Given the description of an element on the screen output the (x, y) to click on. 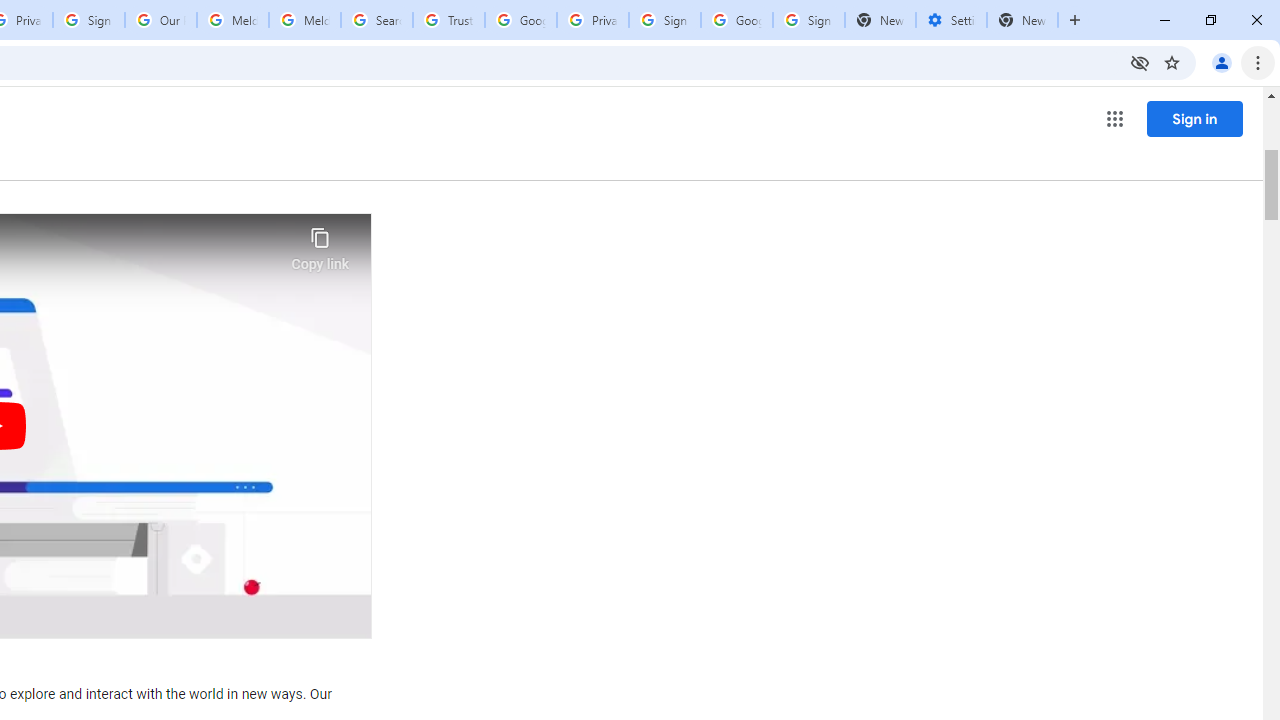
Copy link (319, 244)
Sign in - Google Accounts (88, 20)
Google Cybersecurity Innovations - Google Safety Center (737, 20)
New Tab (1022, 20)
Search our Doodle Library Collection - Google Doodles (376, 20)
